Given the description of an element on the screen output the (x, y) to click on. 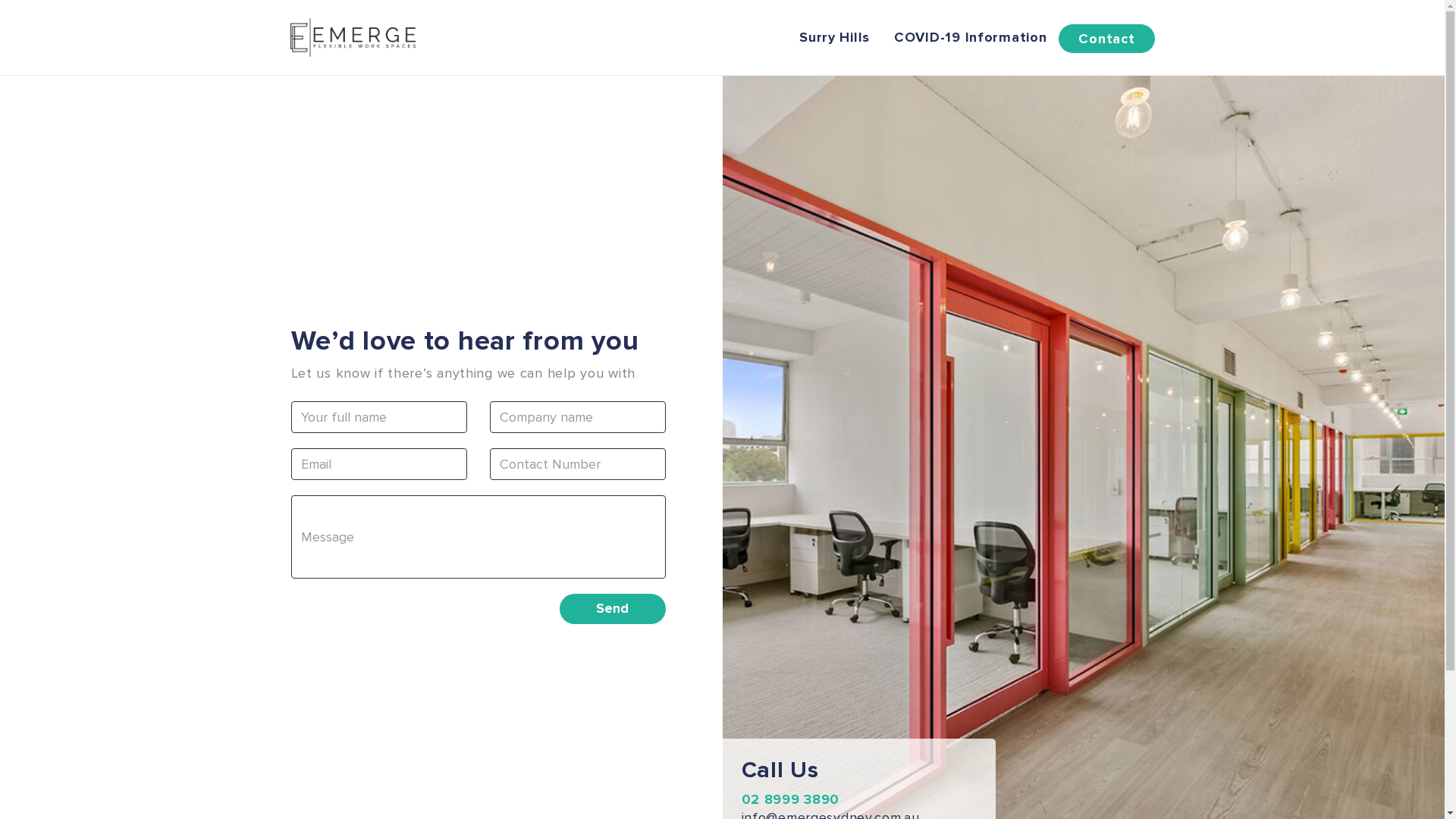
COVID-19 Information Element type: text (969, 37)
02 8999 3890 Element type: text (790, 798)
Send Element type: text (612, 608)
Contact Element type: text (1106, 38)
Surry Hills Element type: text (834, 37)
